Given the description of an element on the screen output the (x, y) to click on. 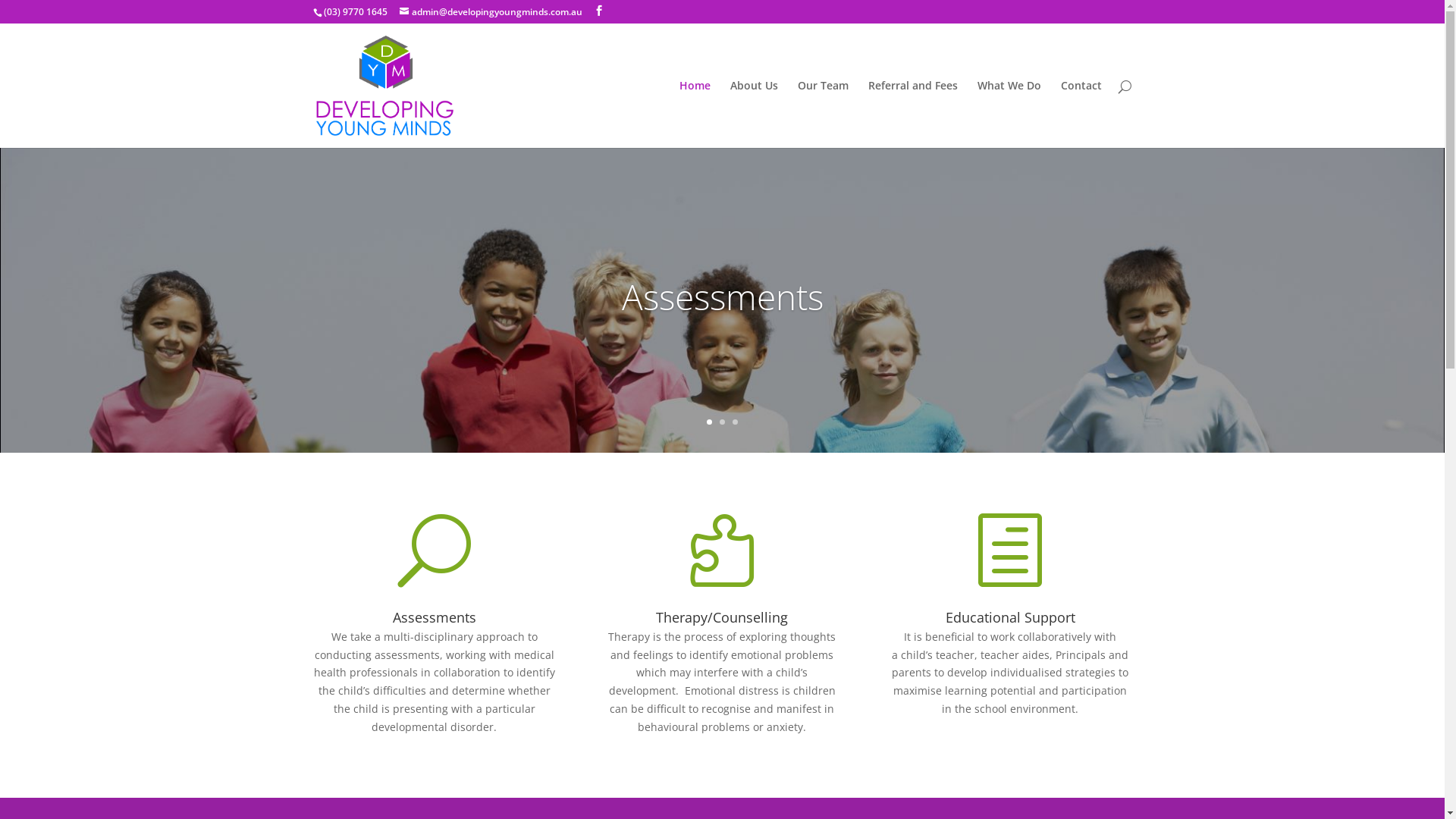
What We Do Element type: text (1008, 113)
1 Element type: text (709, 421)
Assessments Element type: text (434, 617)
Referral and Fees Element type: text (912, 113)
Therapy/Counselling Element type: text (721, 617)
h Element type: text (1009, 578)
Home Element type: text (694, 113)
About Us Element type: text (753, 113)
3 Element type: text (734, 421)
U Element type: text (434, 578)
Contact Element type: text (1080, 113)
Educational Support Element type: text (1010, 617)
admin@developingyoungminds.com.au Element type: text (489, 11)
Our Team Element type: text (822, 113)
2 Element type: text (721, 421)
